Given the description of an element on the screen output the (x, y) to click on. 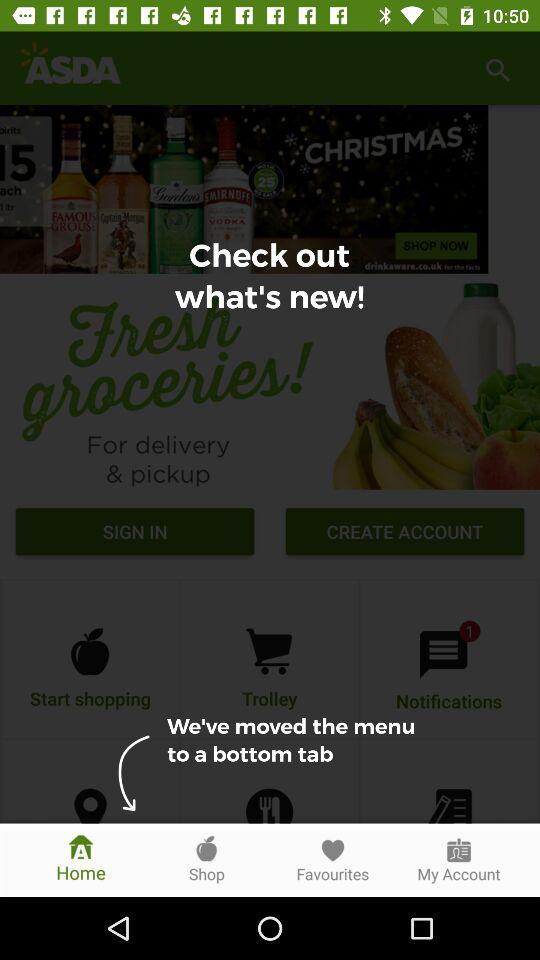
launch the icon at the top right corner (497, 67)
